Given the description of an element on the screen output the (x, y) to click on. 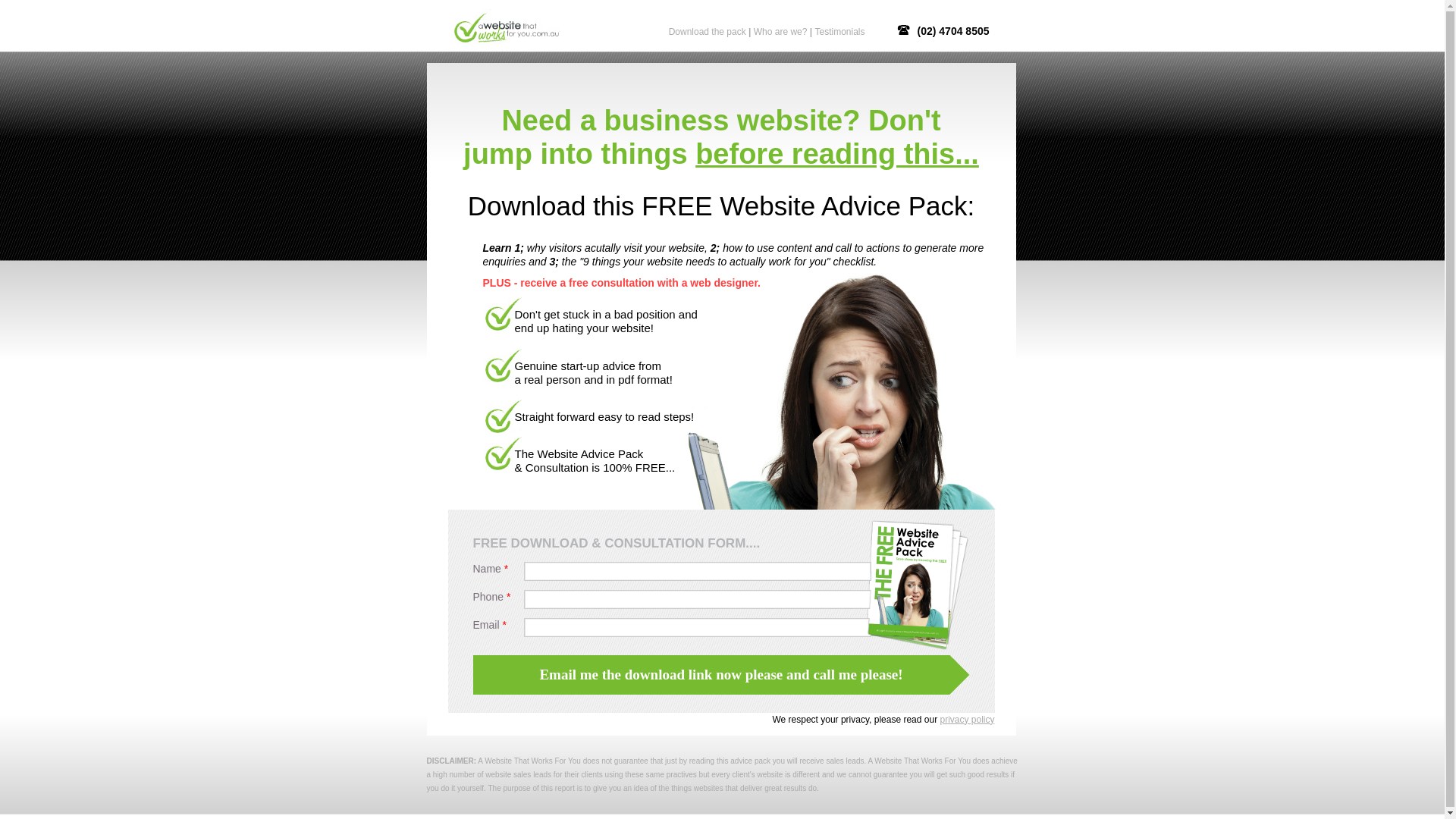
Who are we? Element type: text (780, 31)
privacy policy Element type: text (966, 719)
Download the pack Element type: text (707, 31)
Testimonials Element type: text (839, 31)
Email me the download link now please and call me please! Element type: text (721, 674)
